Given the description of an element on the screen output the (x, y) to click on. 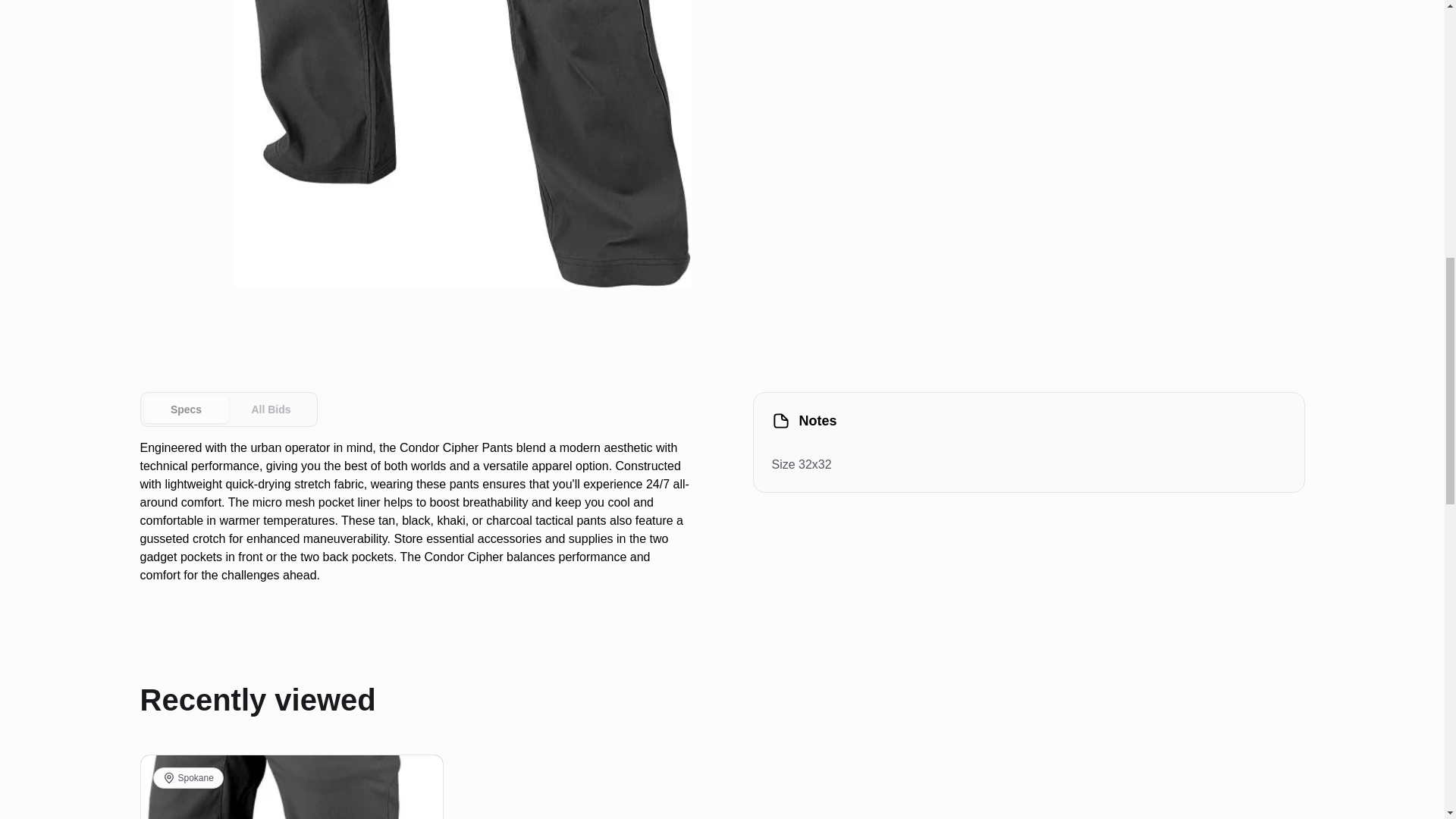
All Bids (271, 409)
Specs (228, 409)
